Given the description of an element on the screen output the (x, y) to click on. 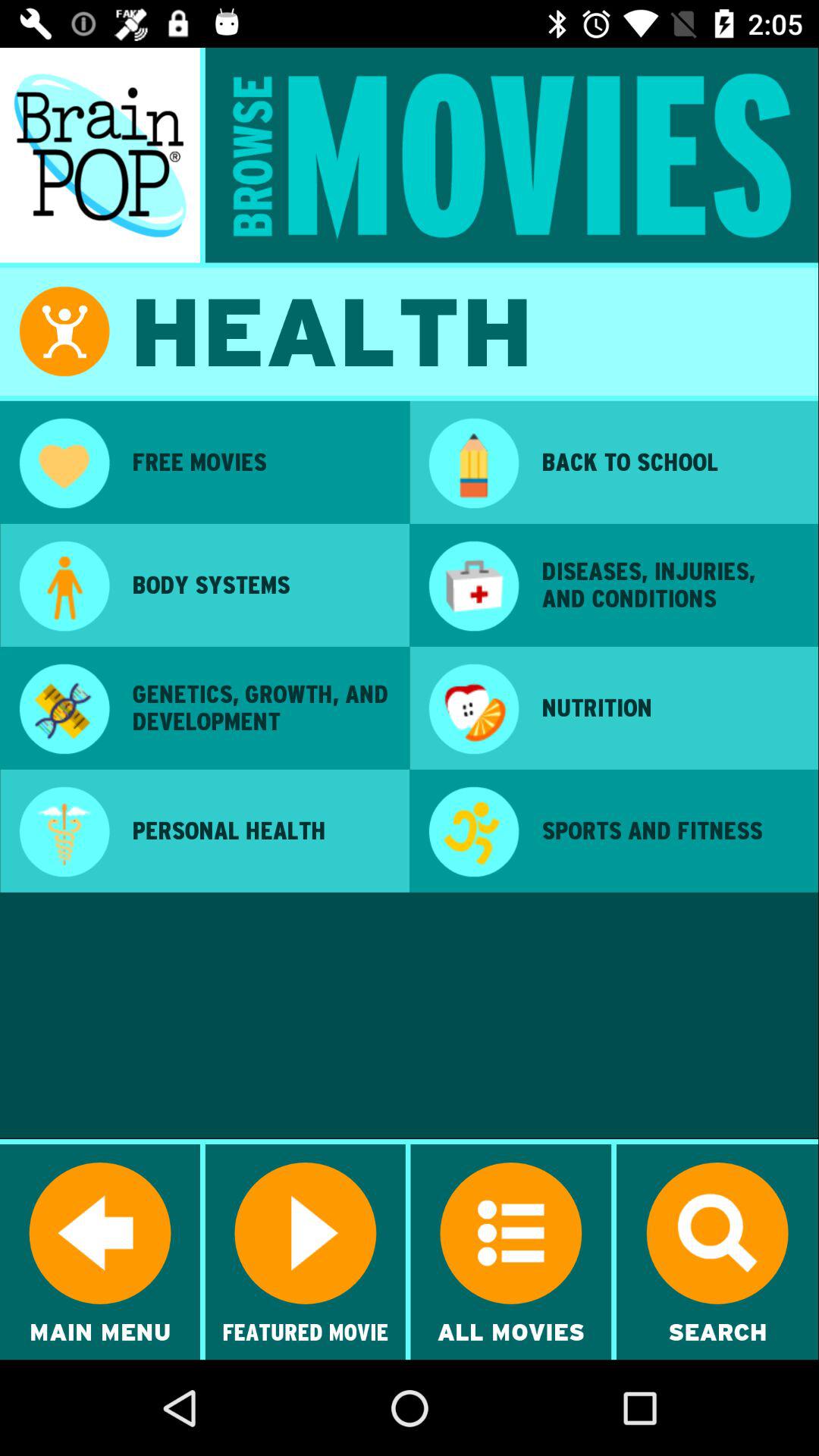
select item below diseases injuries and (670, 707)
